Given the description of an element on the screen output the (x, y) to click on. 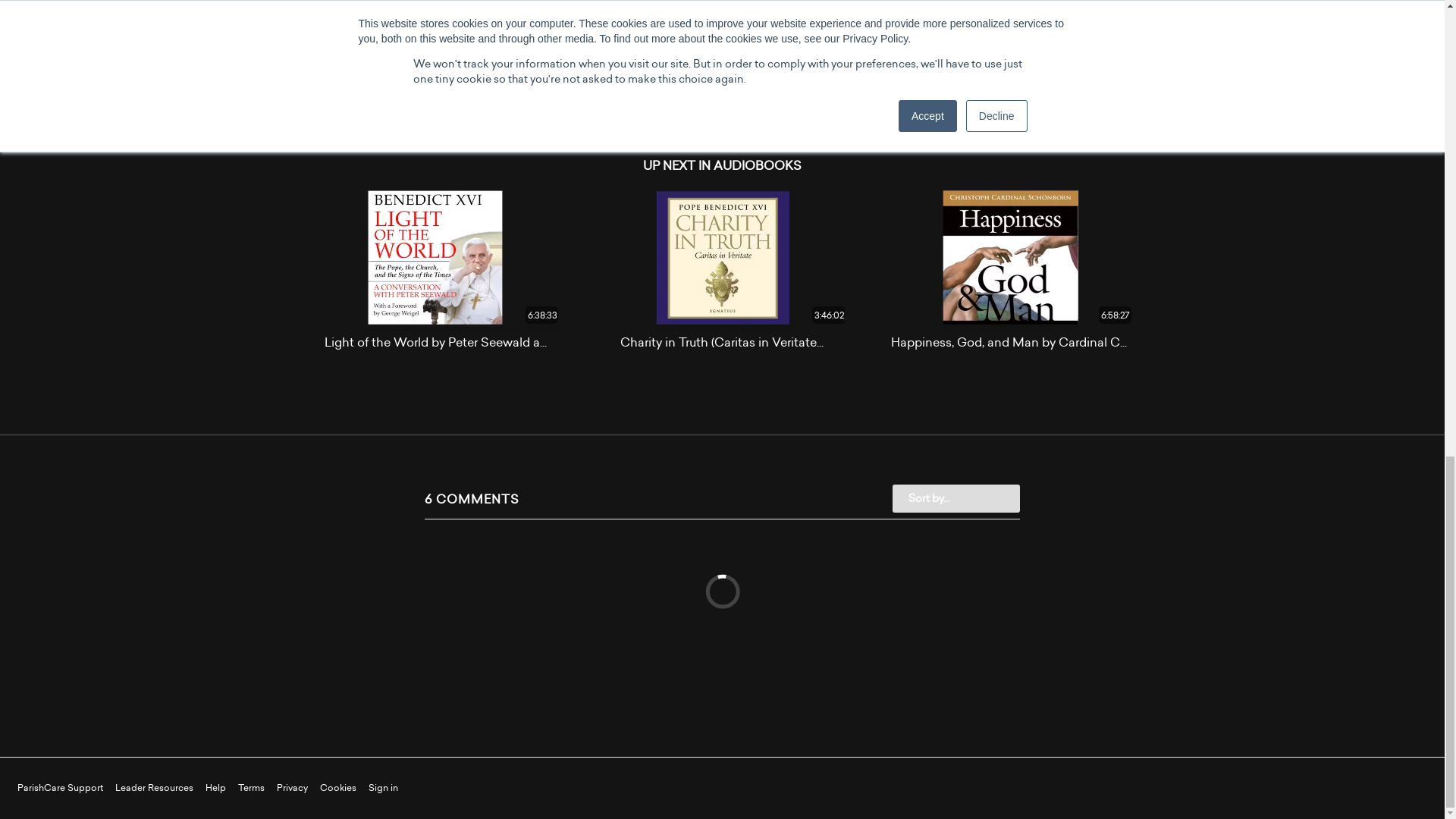
Light of the World by Peter Seewald a... (435, 342)
Happiness, God, and Man by Cardinal C... (1008, 342)
